Given the description of an element on the screen output the (x, y) to click on. 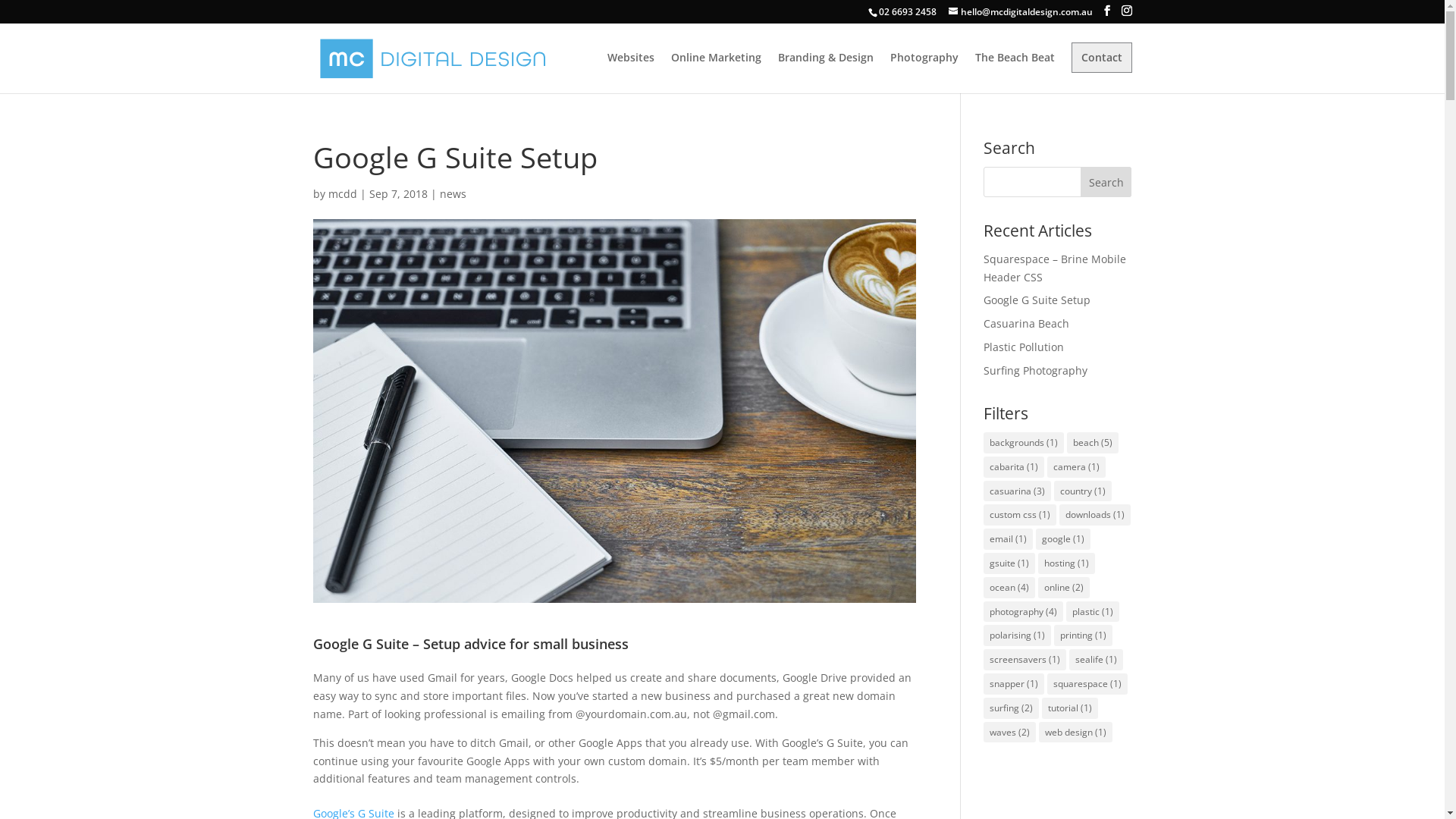
sealife (1) Element type: text (1096, 659)
casuarina (3) Element type: text (1017, 491)
beach (5) Element type: text (1092, 442)
Search Element type: text (1106, 181)
Google G Suite Setup Element type: text (1036, 299)
Photography Element type: text (924, 72)
custom css (1) Element type: text (1019, 514)
plastic (1) Element type: text (1092, 611)
camera (1) Element type: text (1076, 466)
waves (2) Element type: text (1009, 732)
hello@mcdigitaldesign.com.au Element type: text (1019, 11)
snapper (1) Element type: text (1013, 683)
photography (4) Element type: text (1023, 611)
mcdd Element type: text (341, 193)
tutorial (1) Element type: text (1069, 707)
backgrounds (1) Element type: text (1023, 442)
news Element type: text (452, 193)
web design (1) Element type: text (1075, 732)
downloads (1) Element type: text (1094, 514)
surfing (2) Element type: text (1010, 707)
cabarita (1) Element type: text (1013, 466)
Surfing Photography Element type: text (1035, 370)
email (1) Element type: text (1007, 538)
hosting (1) Element type: text (1066, 563)
The Beach Beat Element type: text (1014, 72)
printing (1) Element type: text (1083, 635)
Contact Element type: text (1100, 57)
Websites Element type: text (629, 72)
squarespace (1) Element type: text (1087, 683)
Branding & Design Element type: text (825, 72)
google (1) Element type: text (1062, 538)
country (1) Element type: text (1082, 491)
Online Marketing Element type: text (715, 72)
Plastic Pollution Element type: text (1023, 346)
polarising (1) Element type: text (1017, 635)
Casuarina Beach Element type: text (1026, 323)
gsuite (1) Element type: text (1009, 563)
ocean (4) Element type: text (1009, 587)
online (2) Element type: text (1063, 587)
screensavers (1) Element type: text (1024, 659)
